Given the description of an element on the screen output the (x, y) to click on. 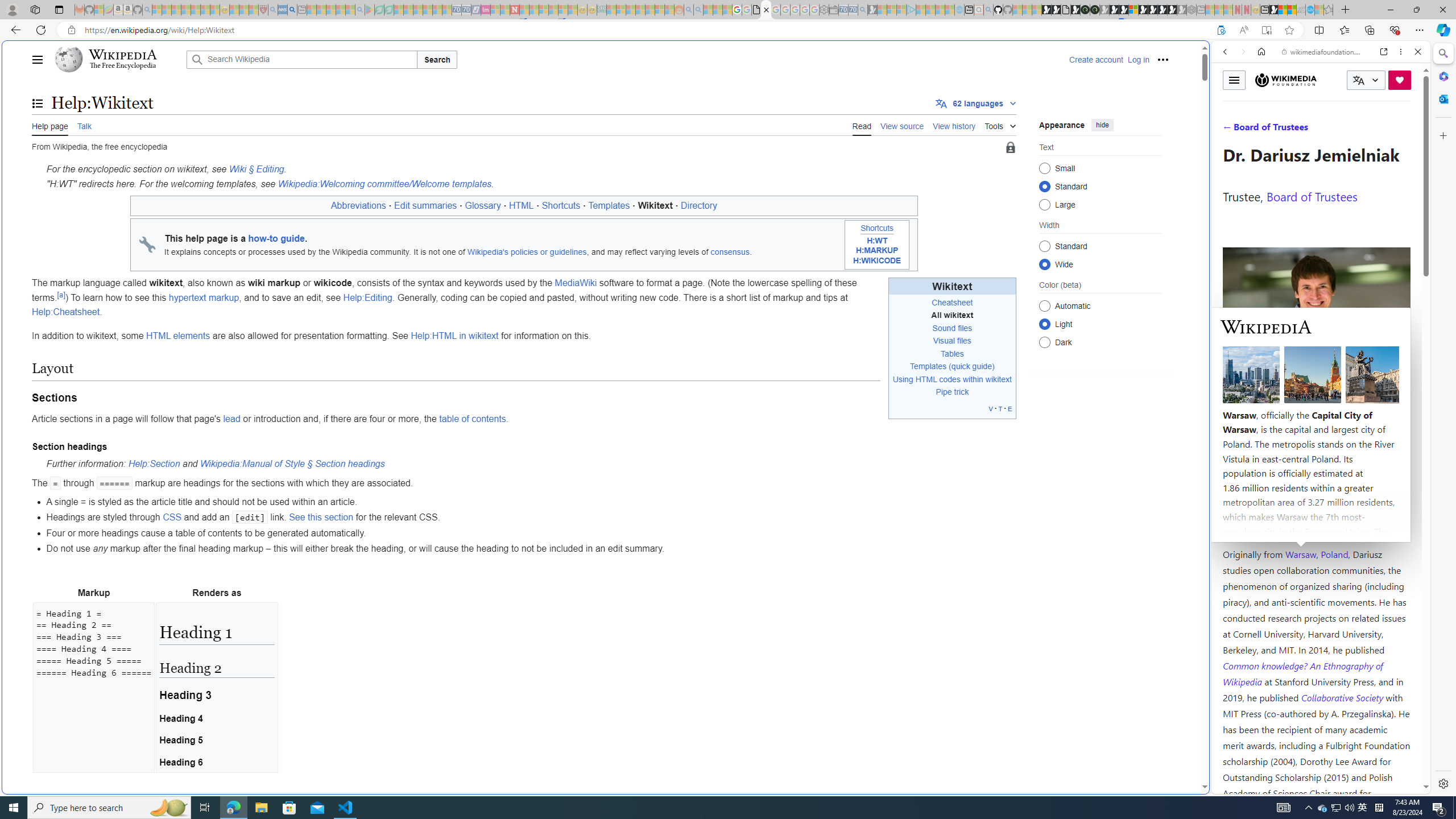
Wikipedia's policies or guidelines (526, 252)
Jobs - lastminute.com Investor Portal - Sleeping (485, 9)
Log in (1137, 58)
Home | Sky Blue Bikes - Sky Blue Bikes - Sleeping (959, 9)
Small (1044, 167)
Talk (84, 124)
Read (861, 124)
Visual files (952, 340)
